Given the description of an element on the screen output the (x, y) to click on. 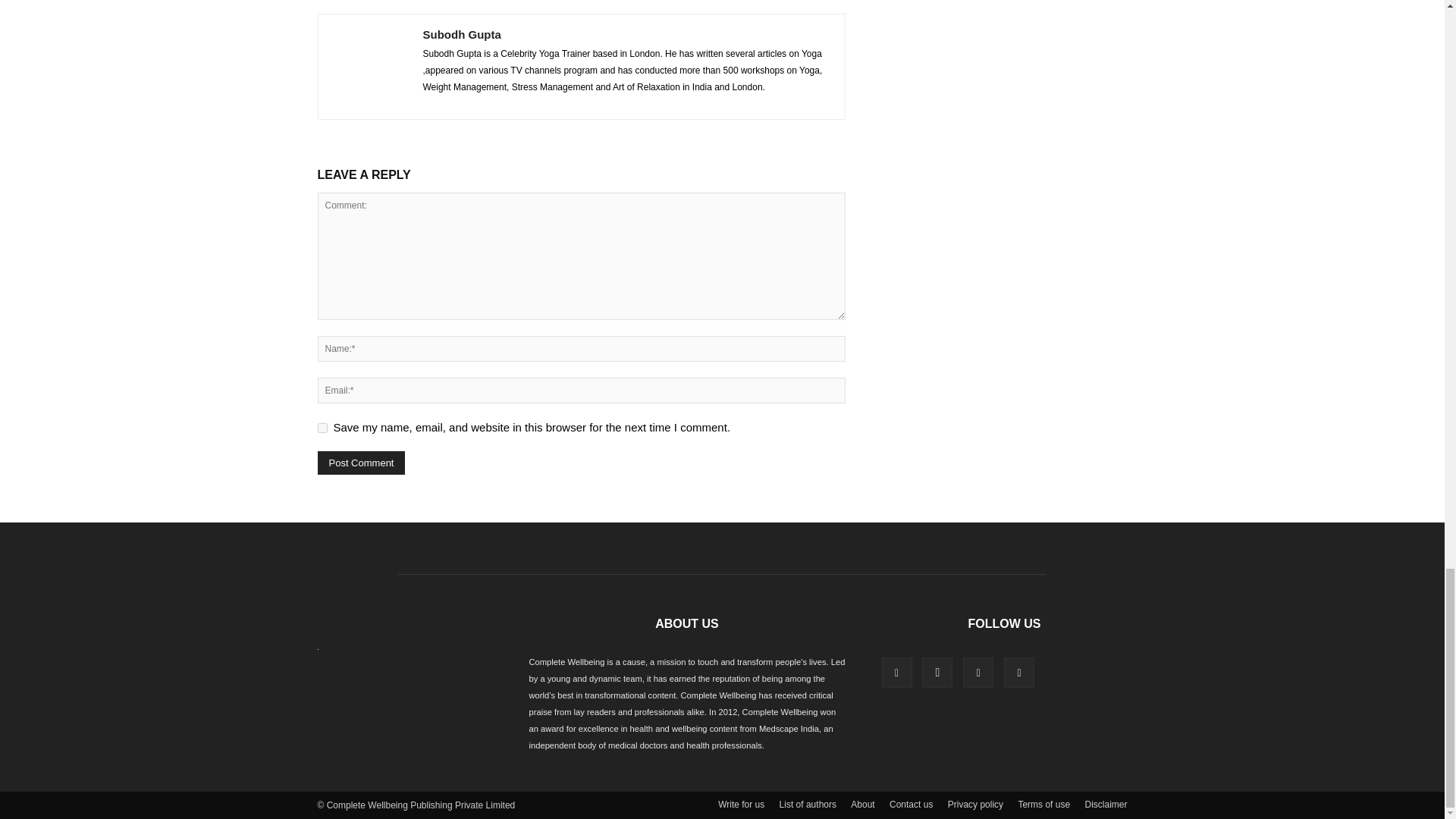
Post Comment (360, 463)
yes (321, 428)
